Given the description of an element on the screen output the (x, y) to click on. 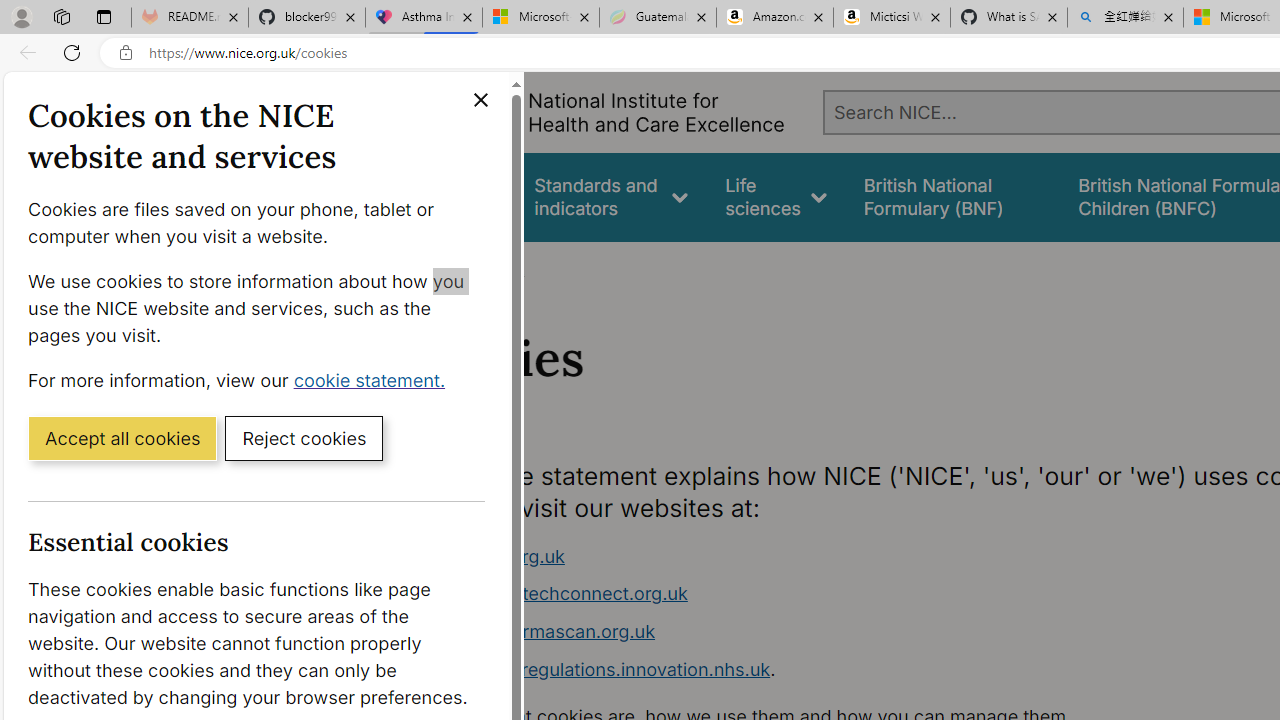
Close cookie banner (480, 99)
cookie statement. (Opens in a new window) (373, 379)
Home> (433, 268)
